Given the description of an element on the screen output the (x, y) to click on. 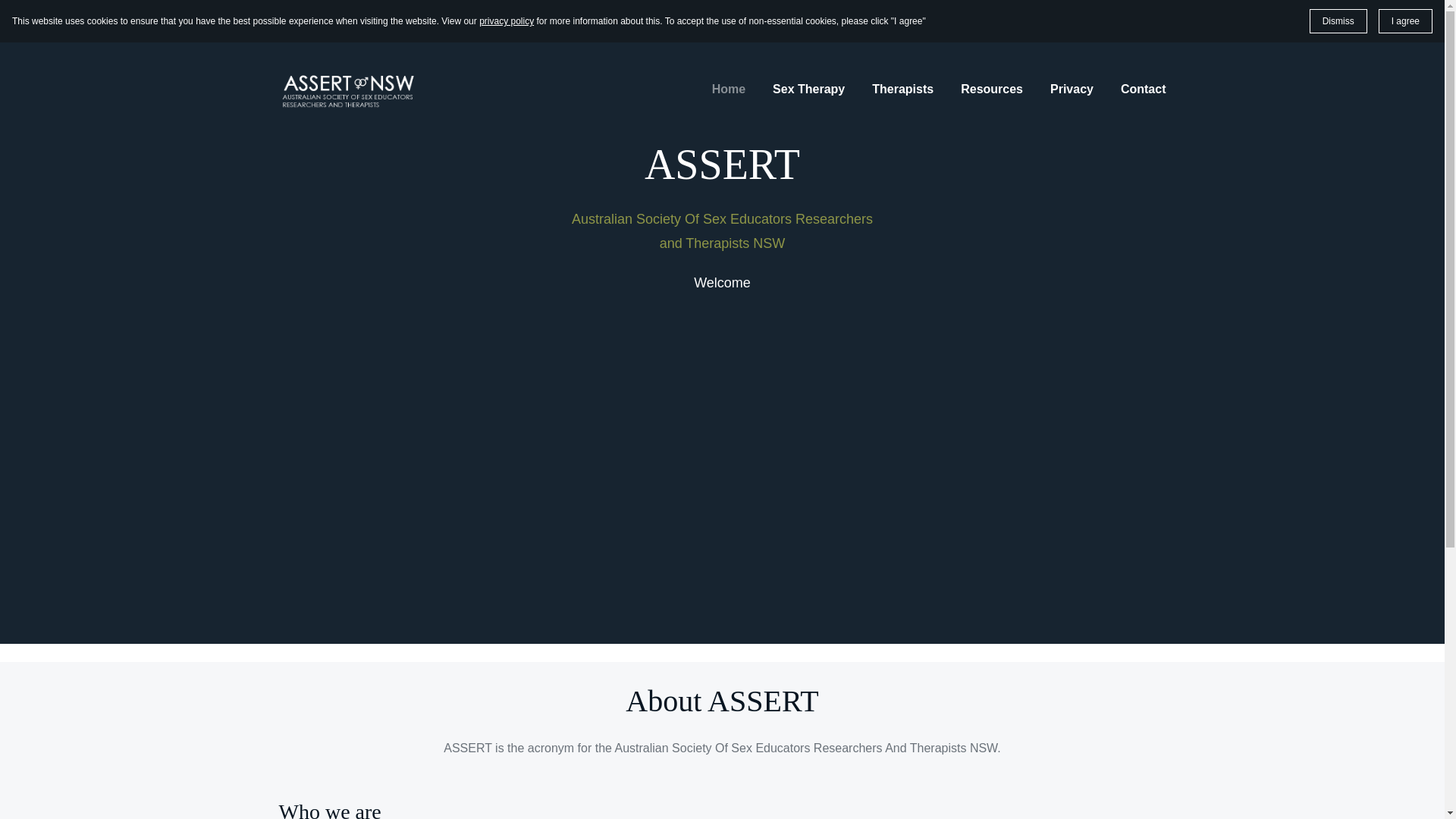
Home Element type: text (728, 89)
Sex Therapy Element type: text (808, 89)
privacy policy Element type: text (506, 20)
Privacy Element type: text (1071, 89)
Therapists Element type: text (902, 89)
Contact Element type: text (1143, 89)
Resources Element type: text (991, 89)
